Given the description of an element on the screen output the (x, y) to click on. 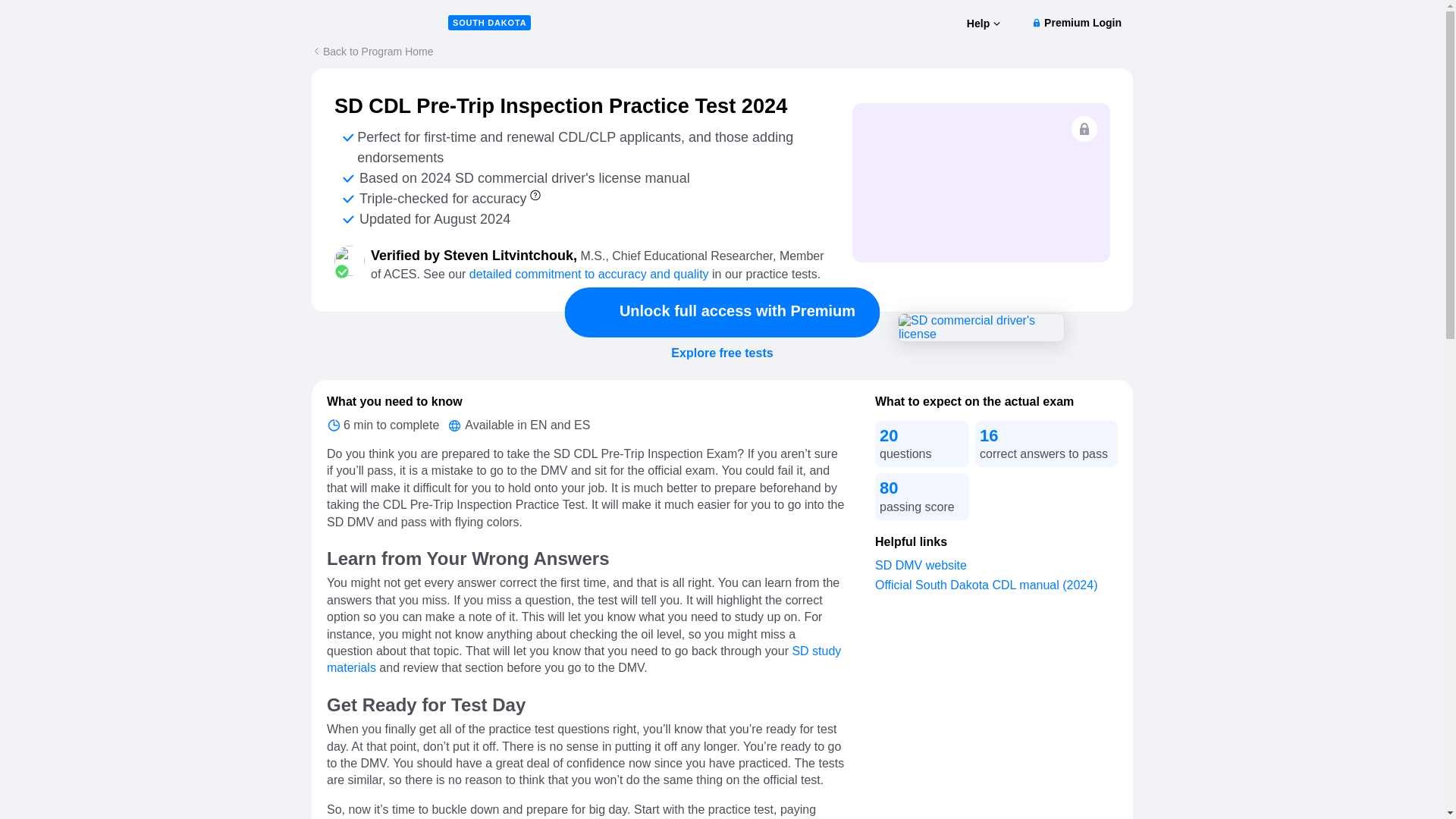
Premium Login (1075, 22)
SOUTH DAKOTA (489, 22)
South Dakota Commercial Driver's License (981, 327)
Help (983, 23)
Unlock full access with Premium (721, 312)
Back to Program Home (372, 50)
driving-tests.org (379, 22)
